Given the description of an element on the screen output the (x, y) to click on. 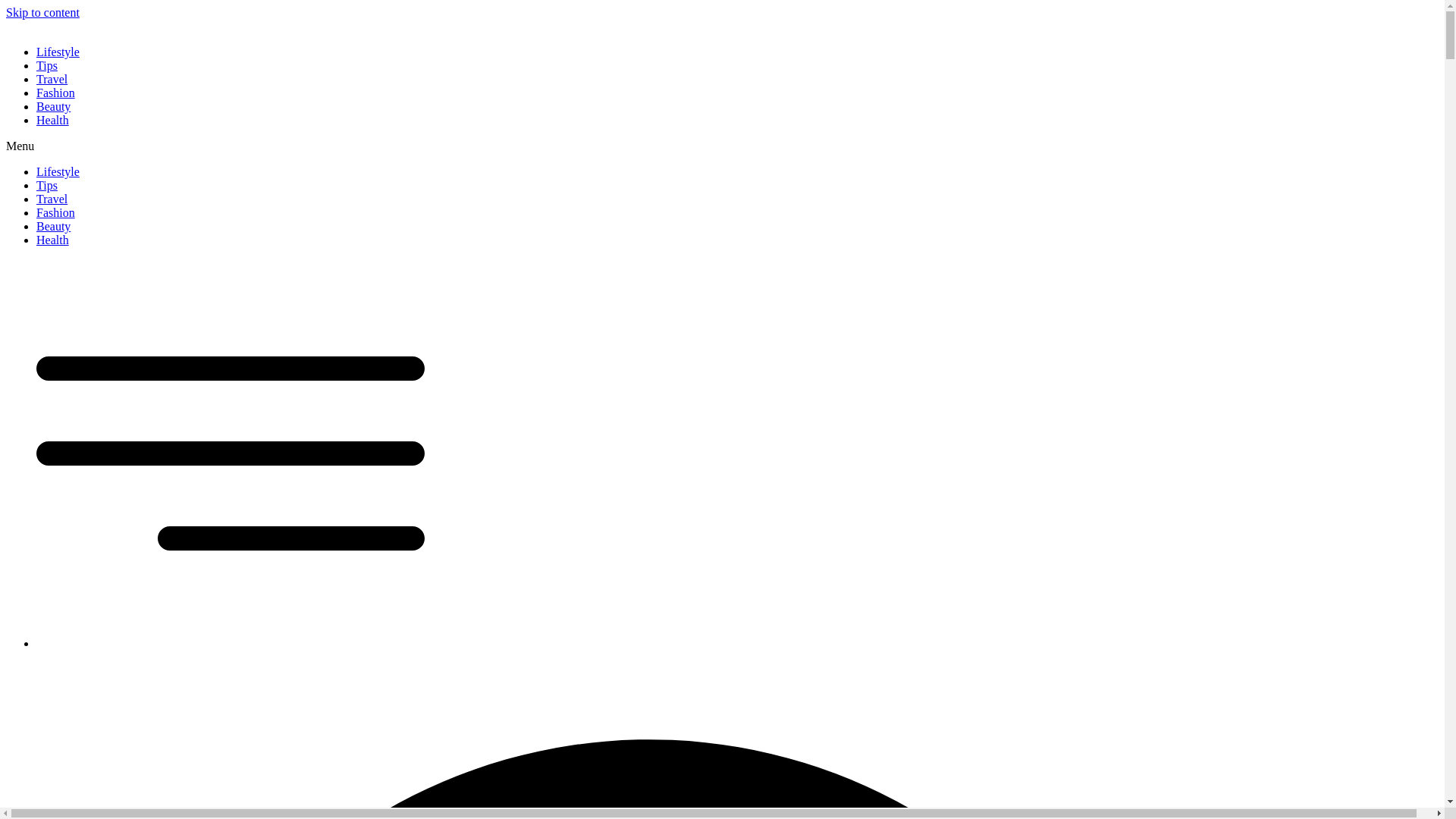
Lifestyle (58, 51)
Lifestyle (58, 171)
Travel (51, 78)
Health (52, 239)
Beauty (52, 226)
Health (52, 119)
Tips (47, 185)
Fashion (55, 212)
Skip to content (42, 11)
Fashion (55, 92)
Tips (47, 65)
Beauty (52, 106)
Travel (51, 198)
